Given the description of an element on the screen output the (x, y) to click on. 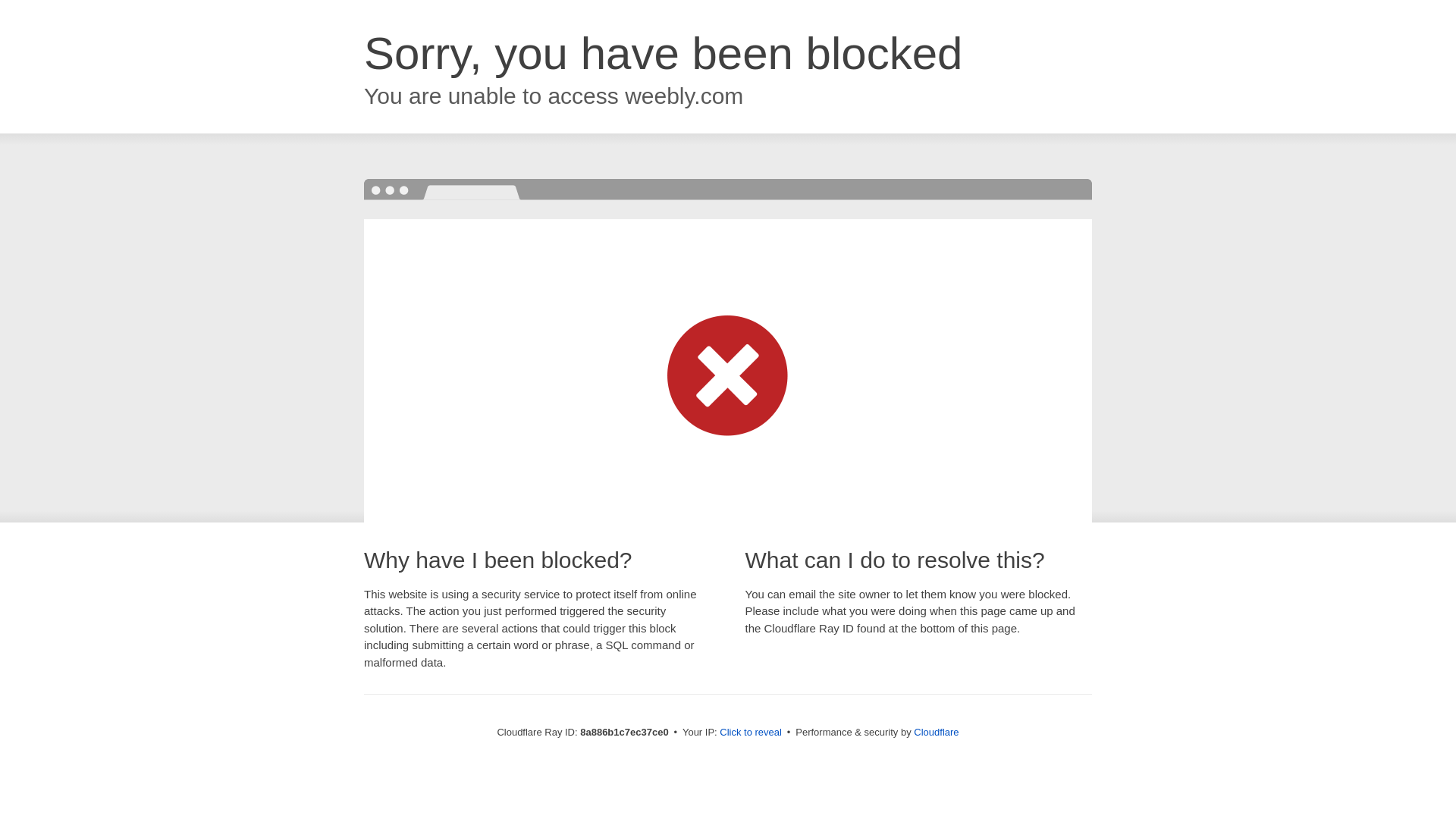
Cloudflare (936, 731)
Click to reveal (750, 732)
